Given the description of an element on the screen output the (x, y) to click on. 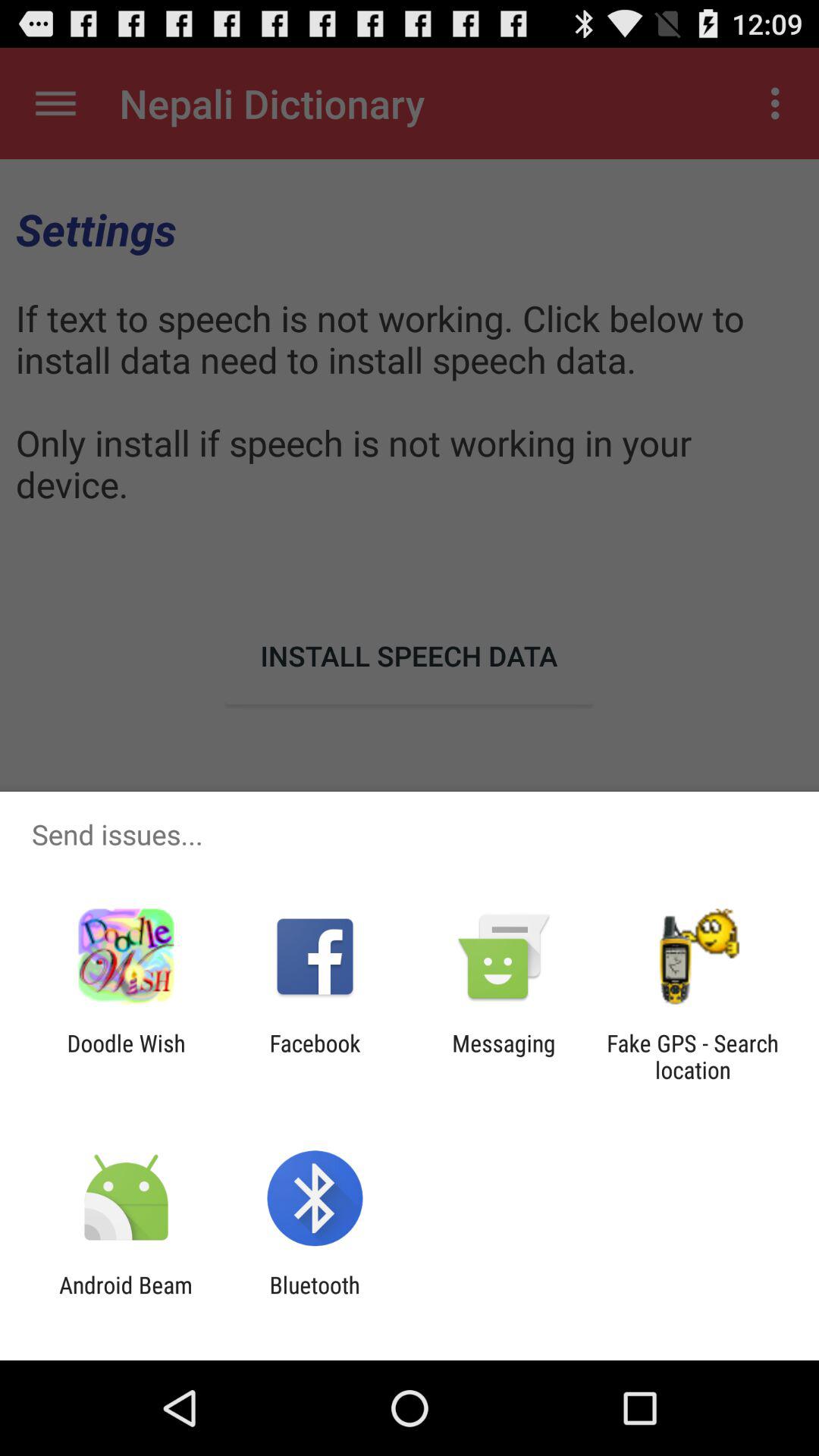
flip until messaging (503, 1056)
